Given the description of an element on the screen output the (x, y) to click on. 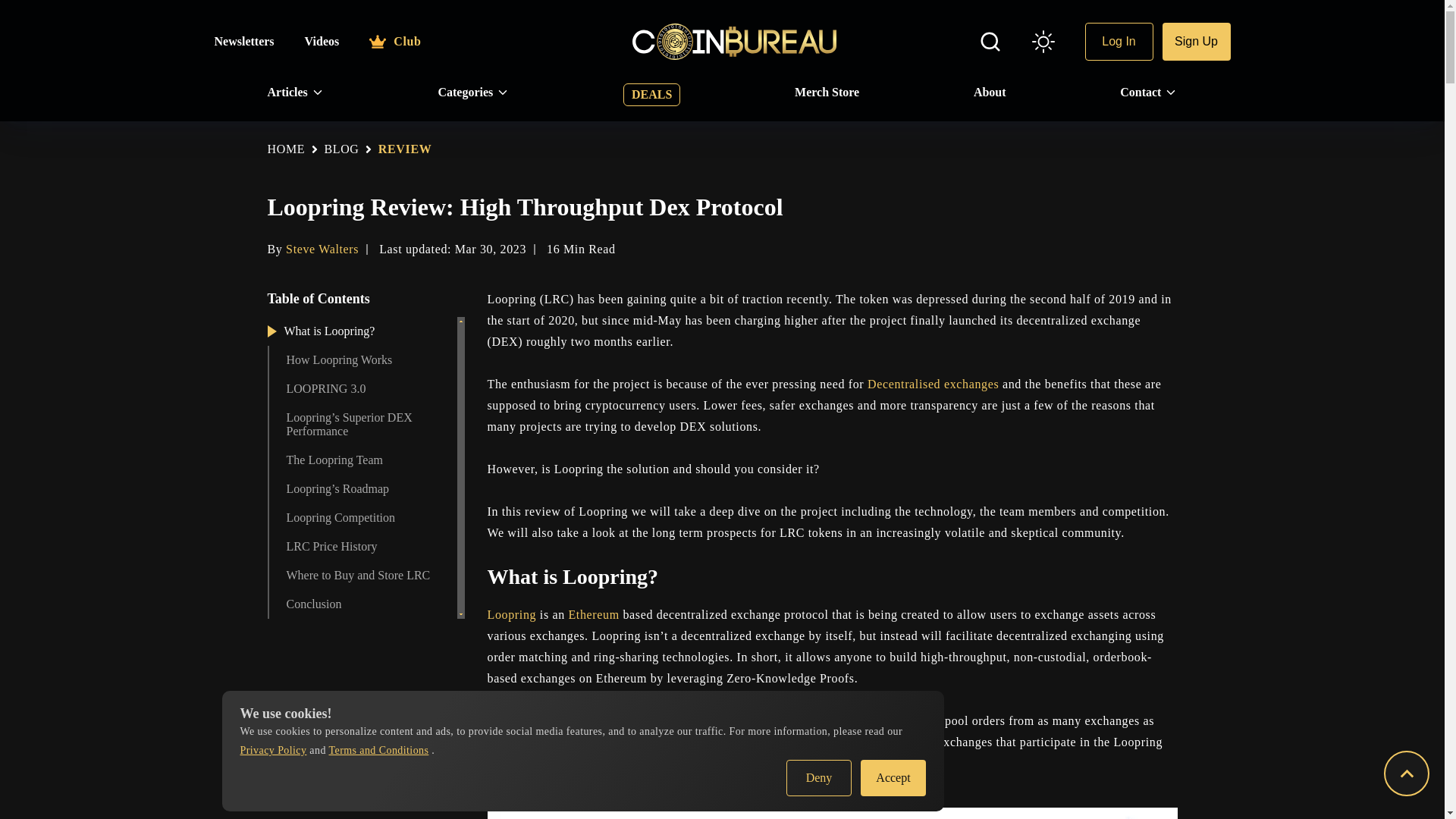
About (990, 92)
Merch Store (826, 92)
Sign Up (1195, 41)
DEALS (651, 94)
Club (394, 41)
Newsletters (243, 41)
Sign Up (1195, 41)
Log In (1118, 41)
Log In (1118, 41)
Videos (322, 41)
